Given the description of an element on the screen output the (x, y) to click on. 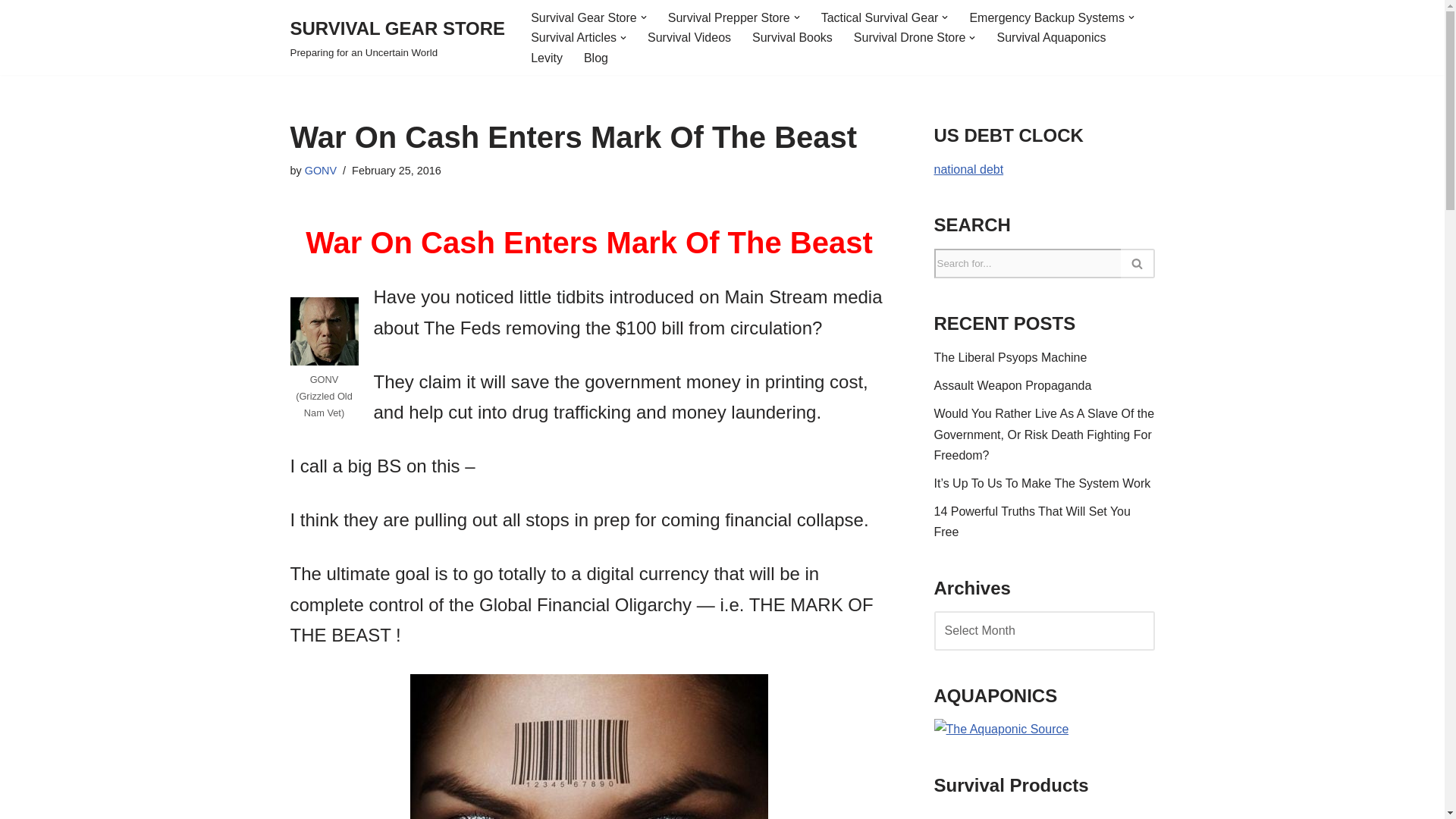
Emergency Backup Systems (1046, 17)
Skip to content (11, 31)
Survival Gear Store (584, 17)
The Aquaponic Source (1001, 728)
national debt (969, 169)
Blog (595, 57)
Levity (546, 57)
Survival Books (792, 37)
Posts by GONV (320, 170)
Tactical Survival Gear (397, 37)
Survival Aquaponics (880, 17)
Survival Videos (1050, 37)
Survival Articles (688, 37)
Survival Drone Store (573, 37)
